Given the description of an element on the screen output the (x, y) to click on. 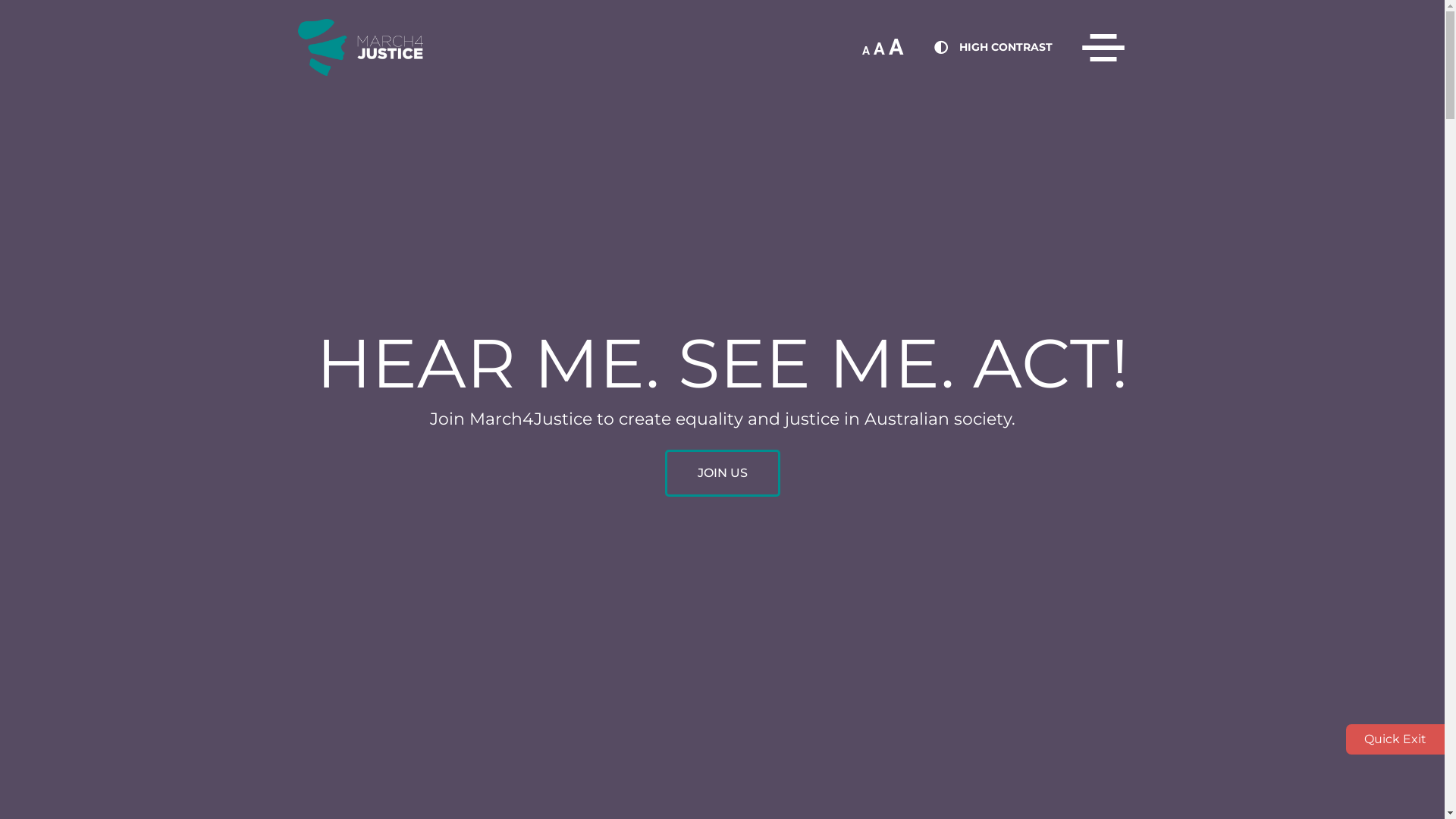
A Element type: text (865, 50)
Quick Exit Element type: text (1395, 739)
A Element type: text (895, 46)
JOIN US Element type: text (721, 472)
HIGH CONTRAST Element type: text (1004, 46)
A Element type: text (878, 48)
